Given the description of an element on the screen output the (x, y) to click on. 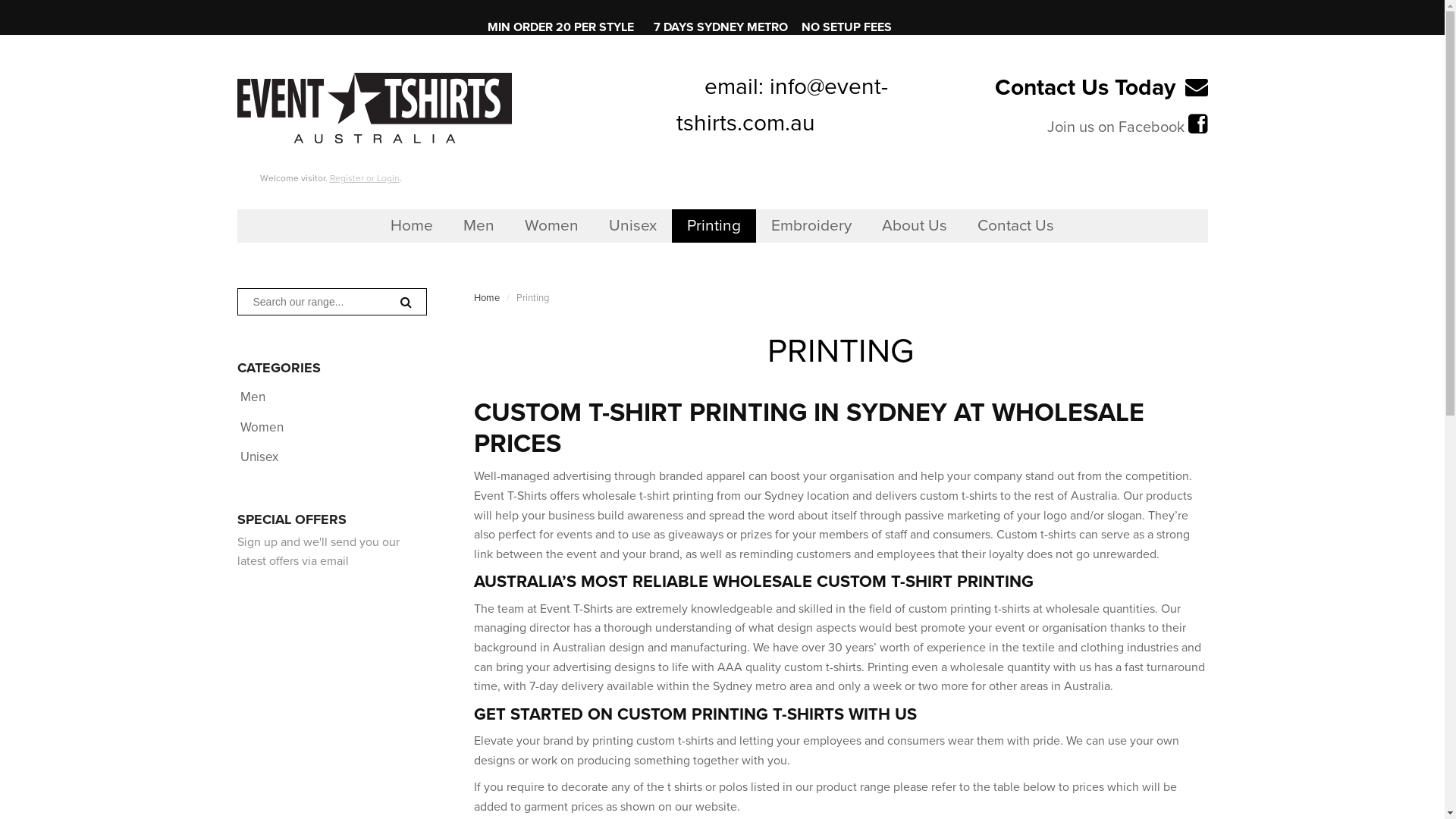
About Us Element type: text (914, 225)
info@event-tshirts.com.au Element type: text (782, 104)
Join us on Facebook Element type: text (1114, 127)
Home Element type: text (486, 297)
Log in Element type: text (607, 268)
Register or Login Element type: text (363, 177)
Printing Element type: text (713, 225)
Men Element type: text (251, 396)
Unisex Element type: text (632, 225)
Women Element type: text (260, 427)
Embroidery Element type: text (811, 225)
Contact Us Today Element type: text (1084, 87)
Women Element type: text (551, 225)
Home Element type: text (411, 225)
Event T-Shirts Element type: text (575, 608)
Men Element type: text (478, 225)
Unisex Element type: text (258, 456)
Contact Us Element type: text (1015, 225)
